Given the description of an element on the screen output the (x, y) to click on. 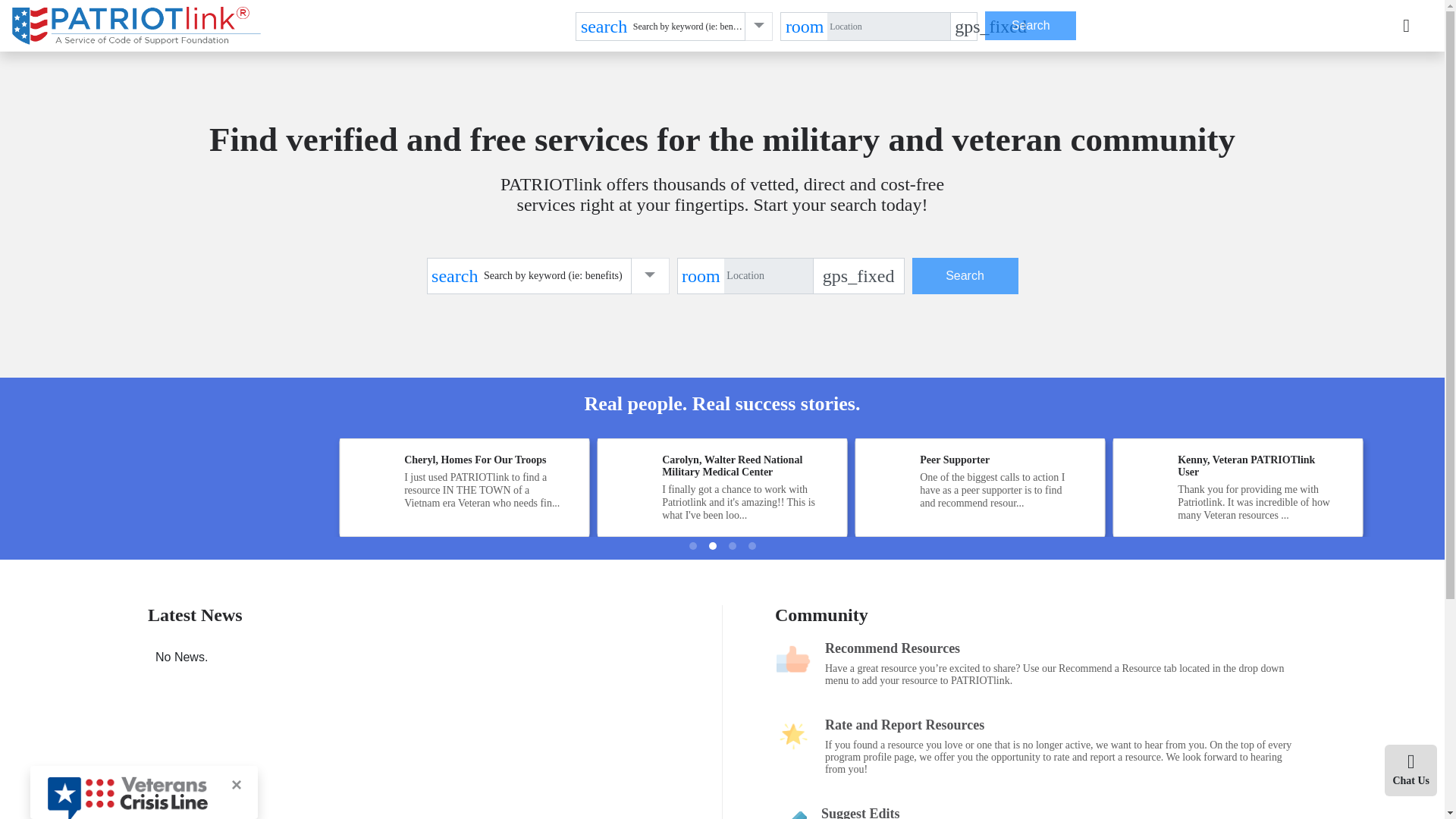
Toggle Dropdown (649, 275)
Search (1030, 25)
Toggle Dropdown (759, 26)
Search (1030, 25)
Search (964, 275)
